Given the description of an element on the screen output the (x, y) to click on. 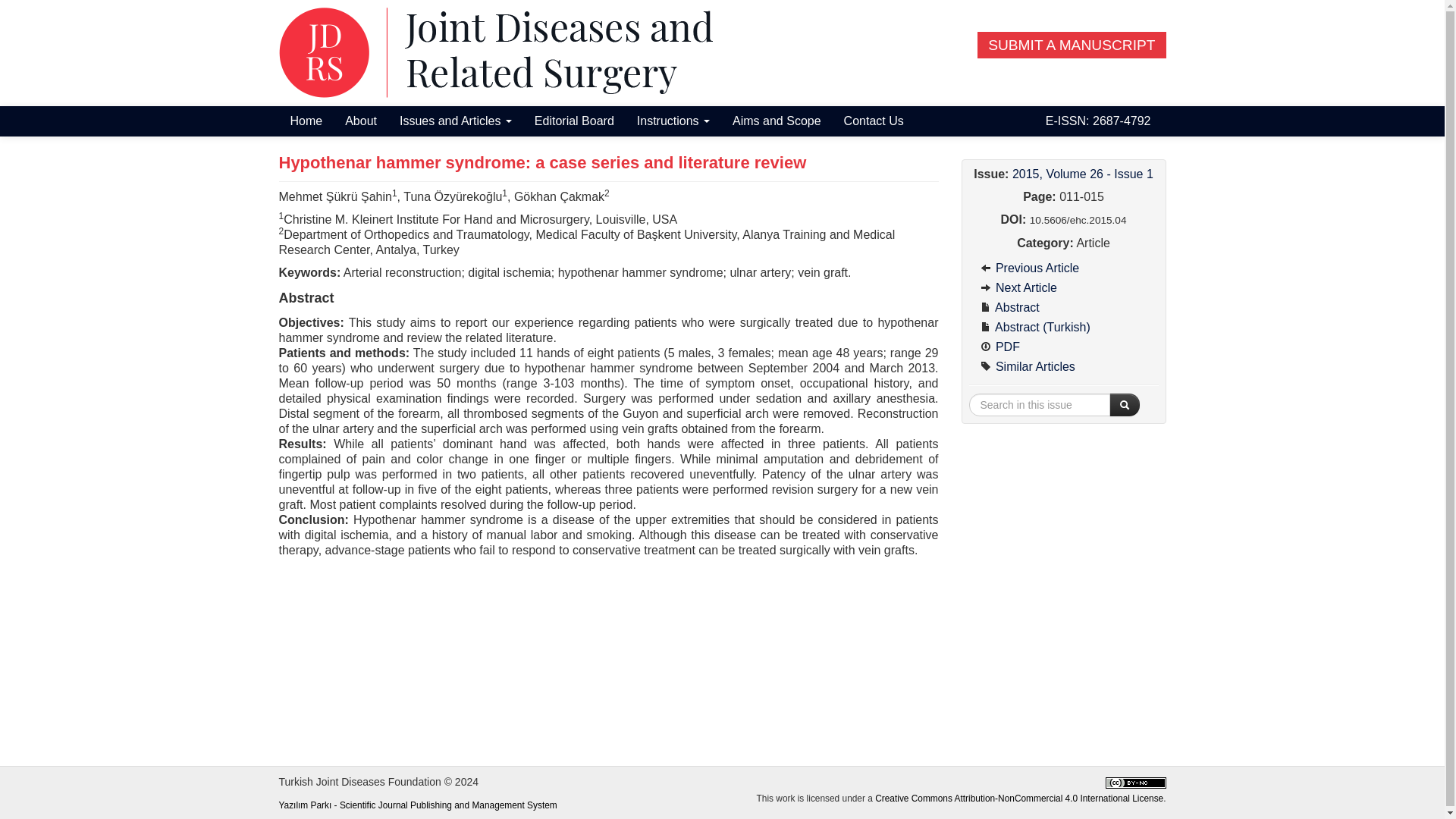
Instructions (673, 121)
Previous Article (1063, 268)
Next Article (1063, 288)
Editorial Board (574, 121)
Aims and Scope (776, 121)
SUBMIT A MANUSCRIPT (1071, 44)
Home (306, 121)
Issues and Articles (455, 121)
2015, Volume 26 - Issue 1 (1082, 173)
About (360, 121)
